Given the description of an element on the screen output the (x, y) to click on. 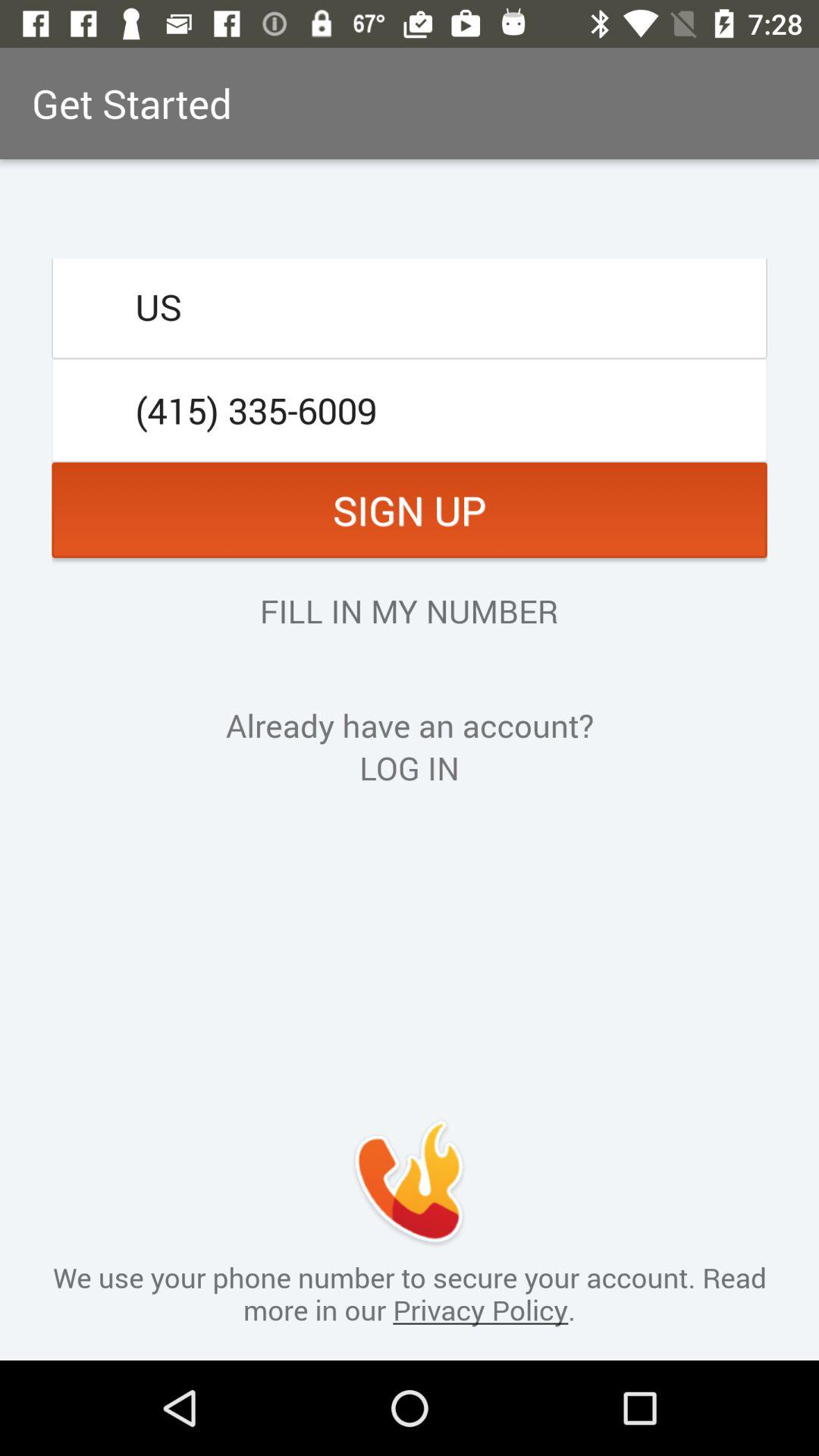
tap icon above (415) 335-6009 item (409, 306)
